Given the description of an element on the screen output the (x, y) to click on. 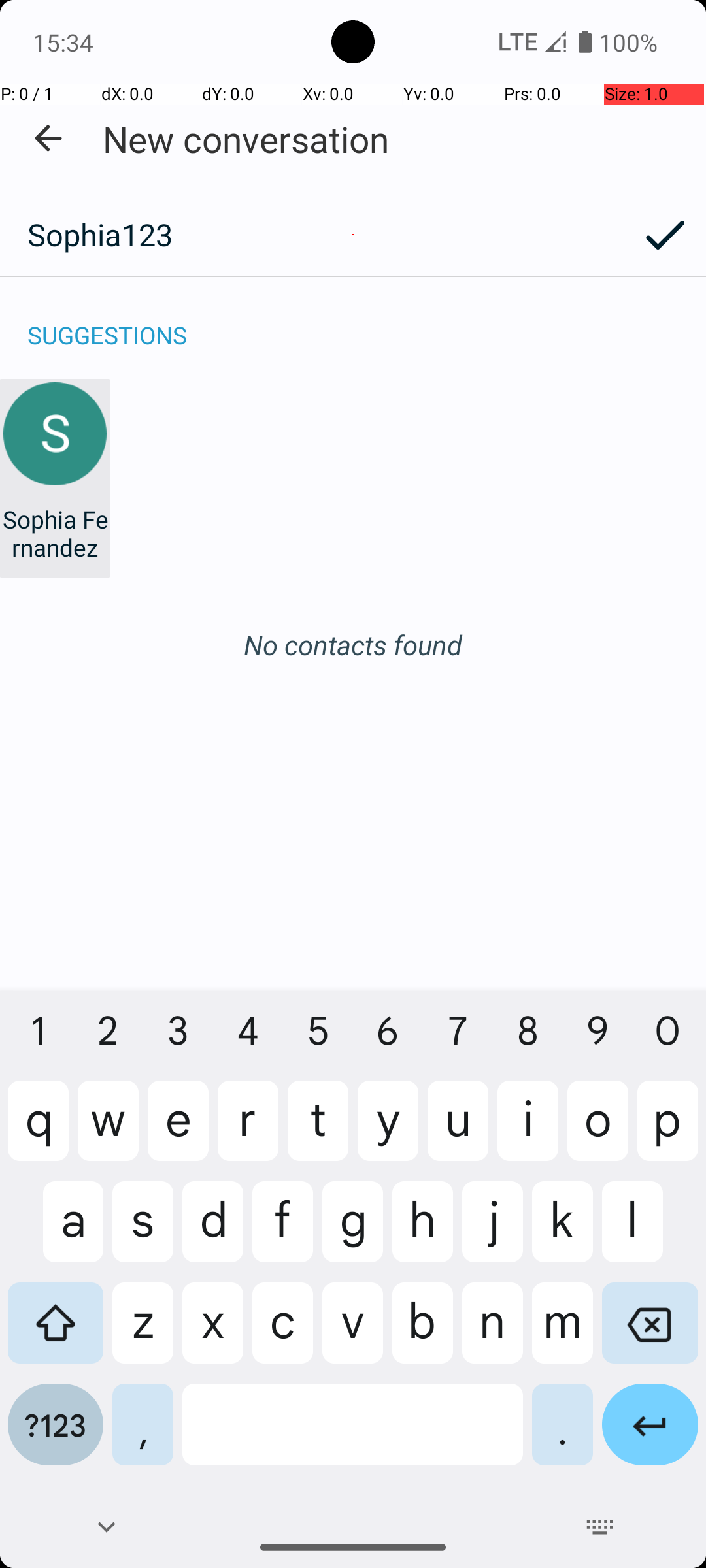
Sophia123 Element type: android.widget.EditText (311, 234)
SUGGESTIONS Element type: android.widget.TextView (106, 321)
No contacts found Element type: android.widget.TextView (353, 644)
Sophia Fernandez Element type: android.widget.TextView (54, 532)
